Given the description of an element on the screen output the (x, y) to click on. 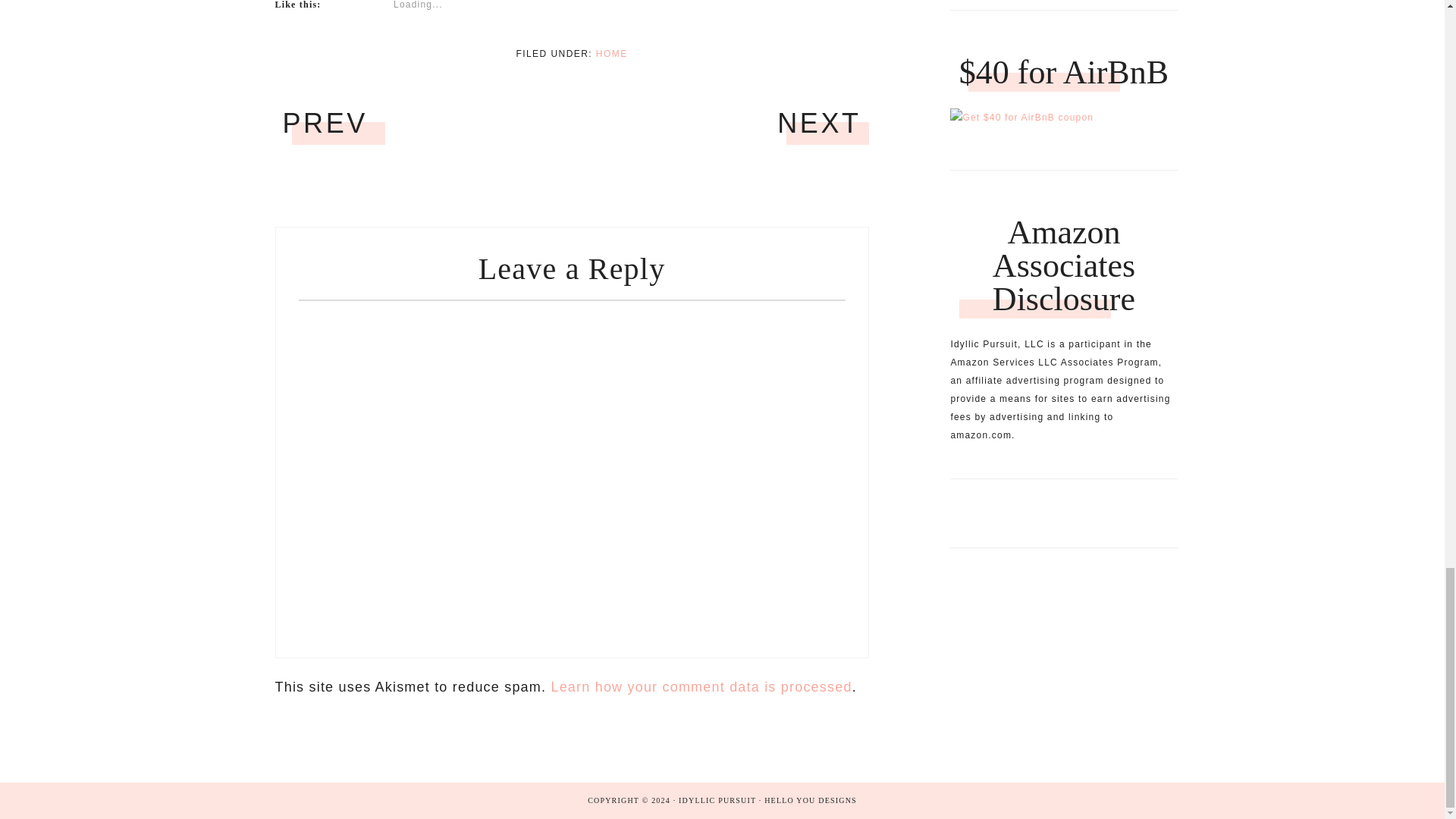
Learn how your comment data is processed (700, 686)
HELLO YOU DESIGNS (810, 800)
HOME (611, 53)
NEXT (818, 122)
PREV (324, 122)
